Given the description of an element on the screen output the (x, y) to click on. 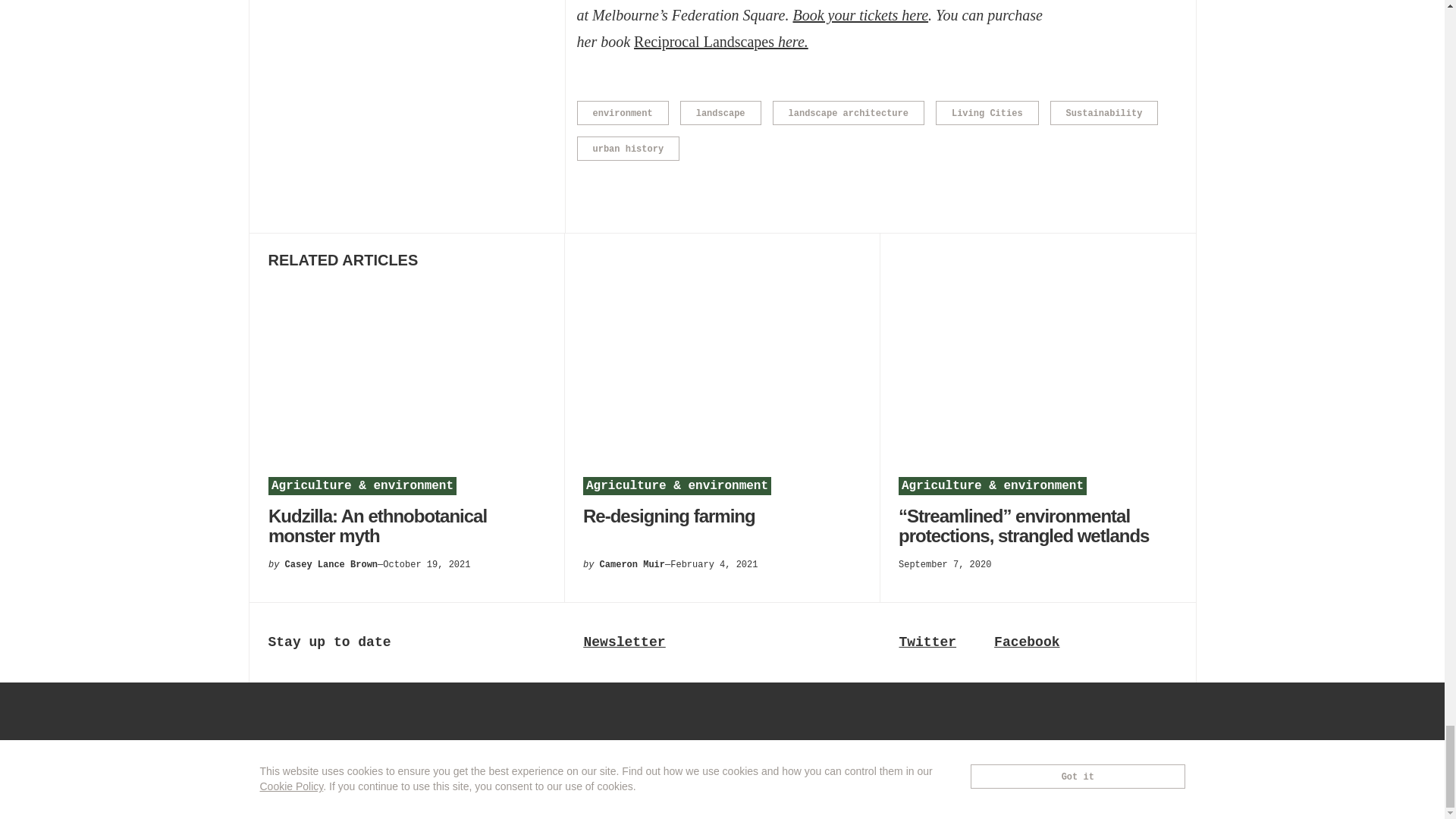
Living Cities (987, 112)
Book your tickets here (860, 14)
environment (622, 112)
Reciprocal Landscapes here. (720, 41)
on (291, 728)
landscape architecture (848, 112)
landscape (720, 112)
